Given the description of an element on the screen output the (x, y) to click on. 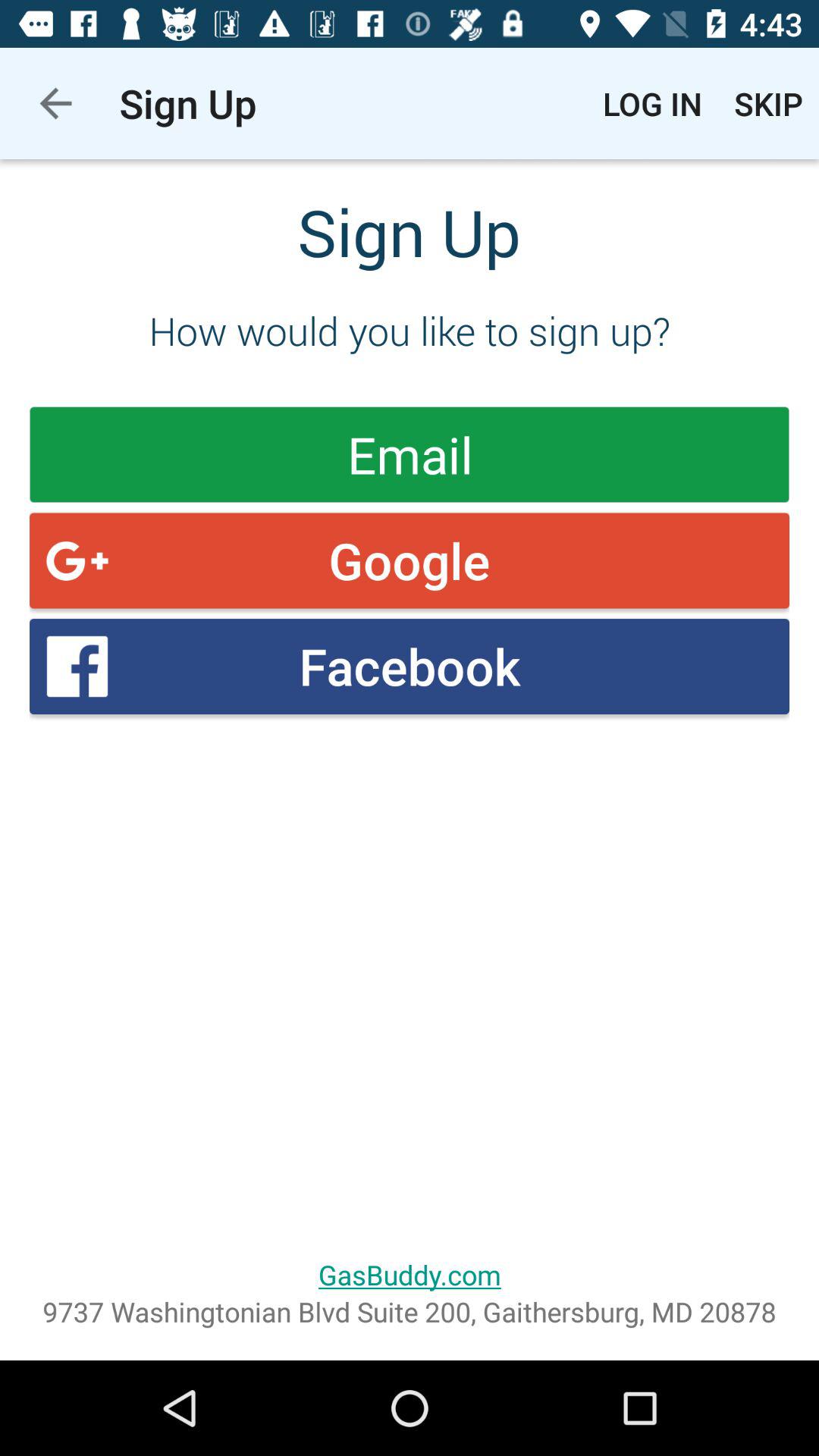
press icon above the how would you icon (55, 103)
